Given the description of an element on the screen output the (x, y) to click on. 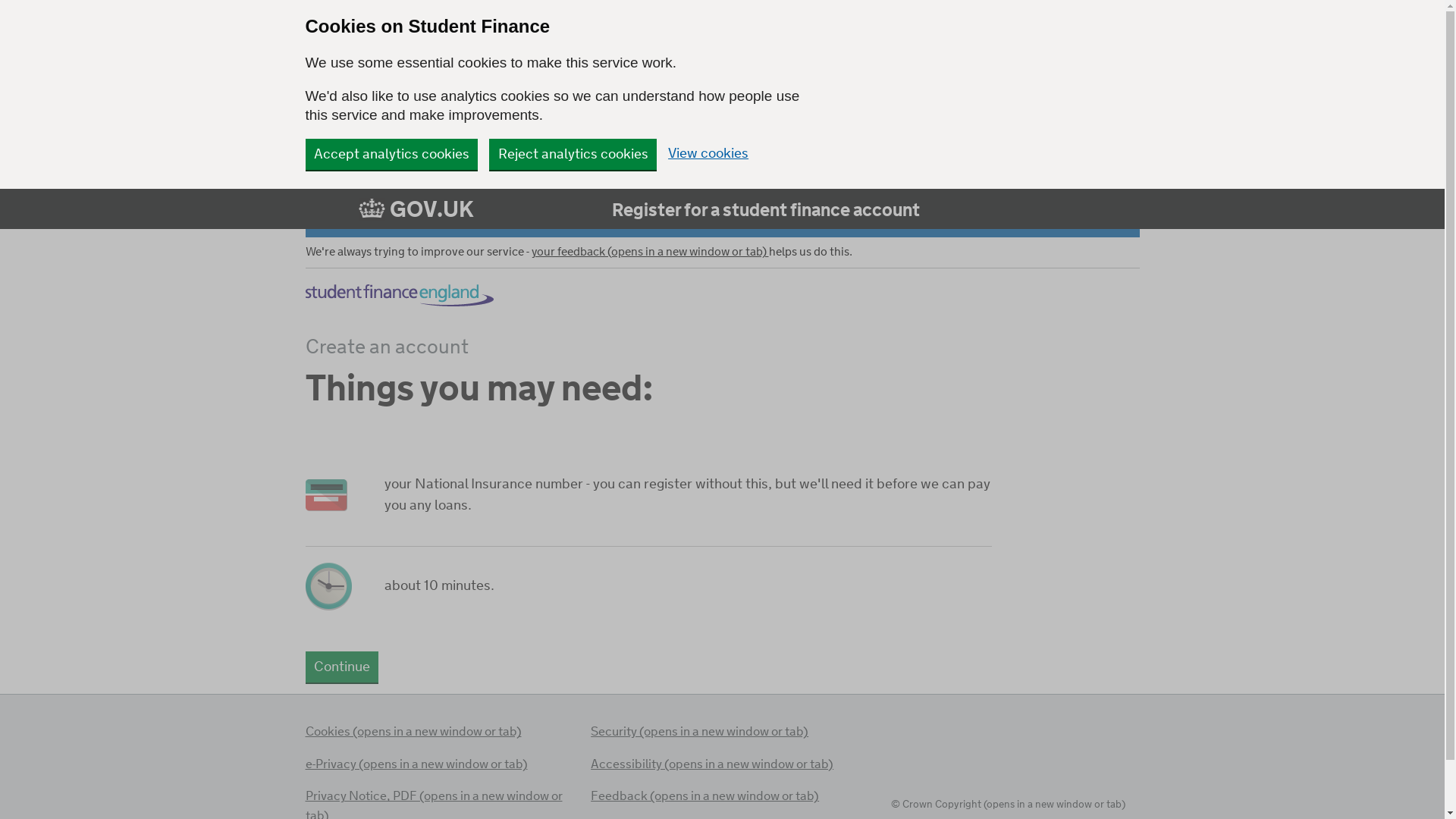
Continue (341, 666)
Continue (341, 666)
View cookies (708, 154)
Reject analytics cookies (572, 153)
Accept analytics cookies (390, 153)
